Given the description of an element on the screen output the (x, y) to click on. 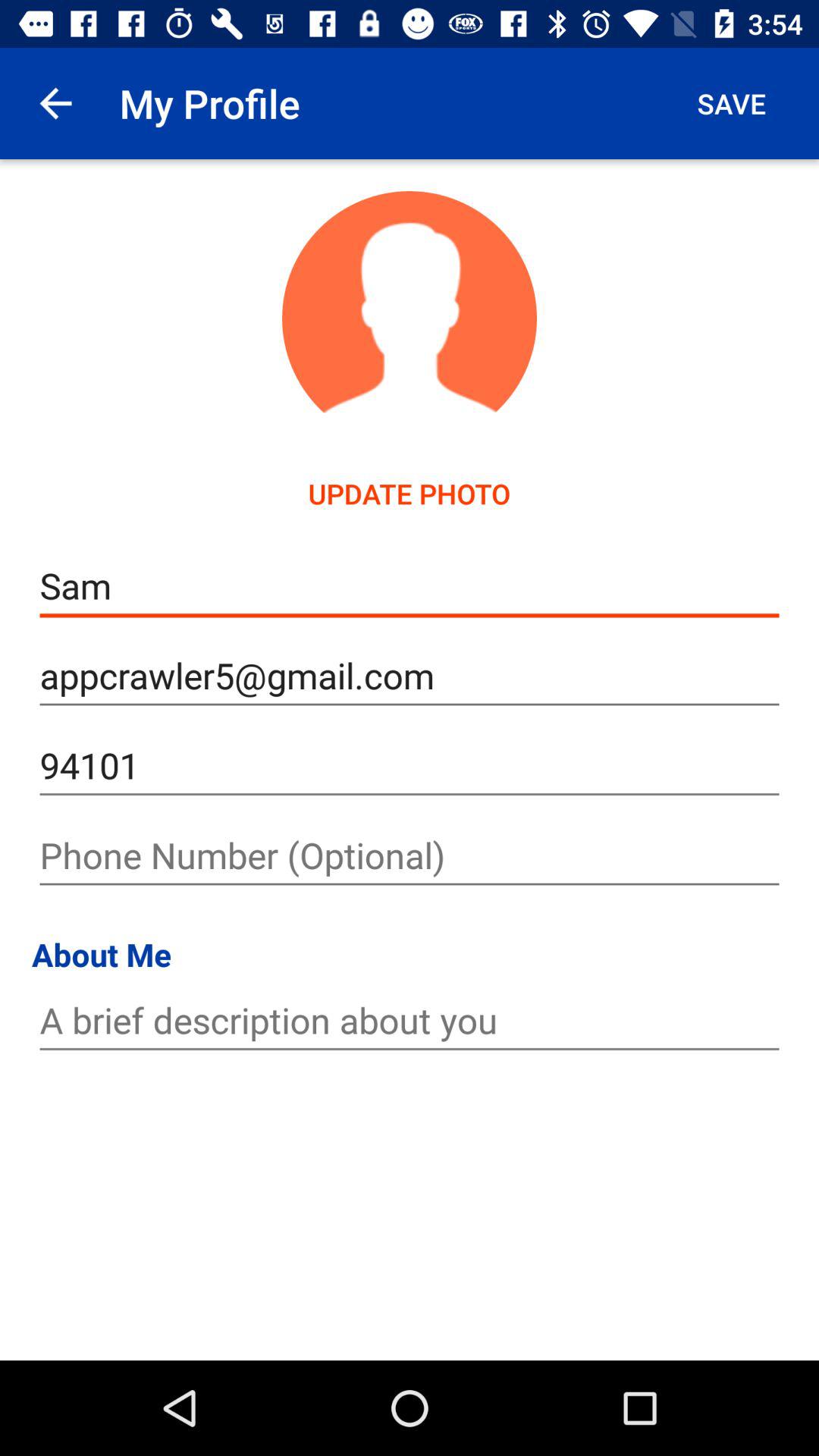
choose icon above the sam (409, 493)
